Given the description of an element on the screen output the (x, y) to click on. 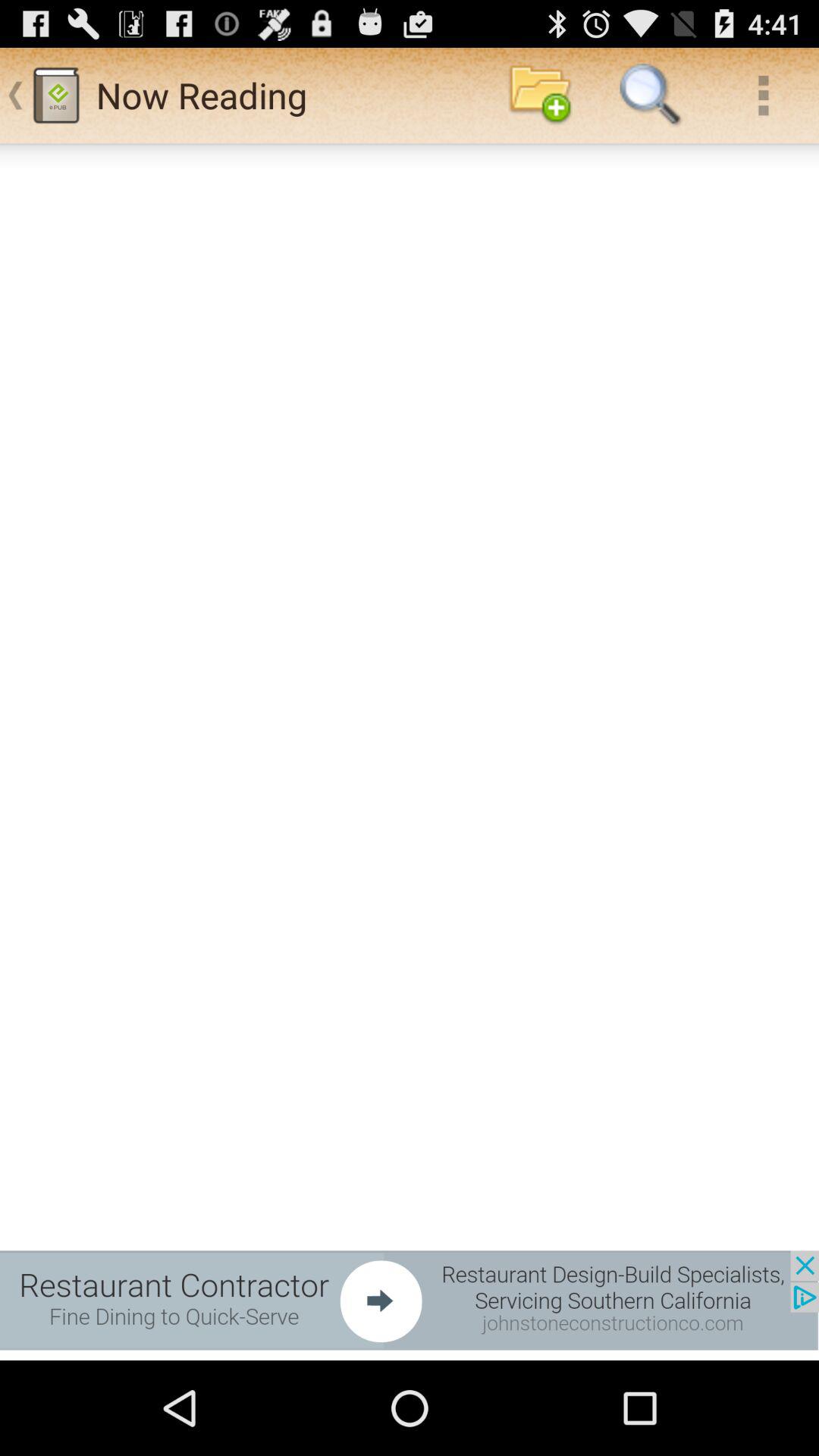
select the icon at the bottom (409, 1300)
